Given the description of an element on the screen output the (x, y) to click on. 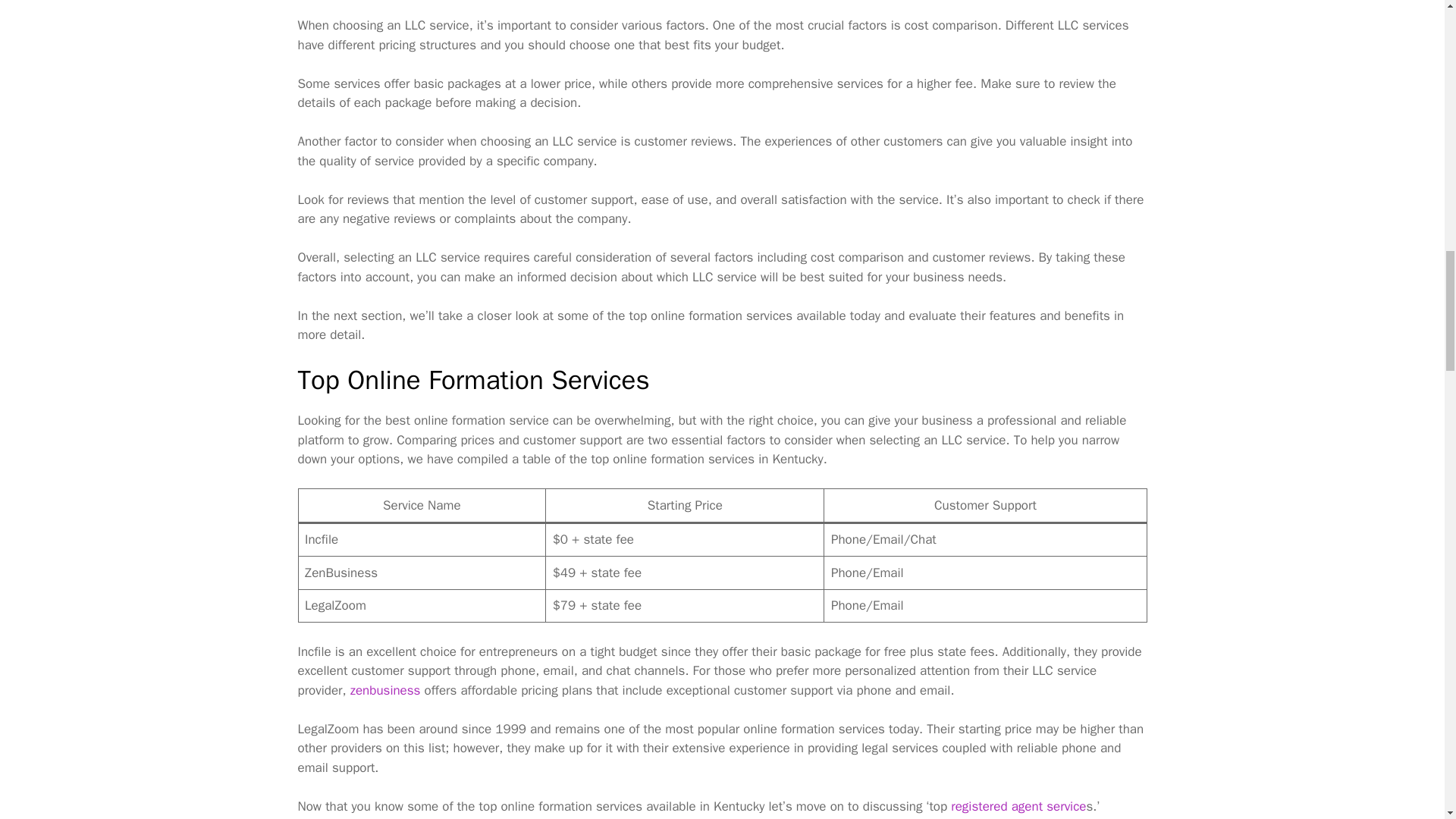
Find the Perfect Registered Agent Services of 2023 (1018, 806)
